Given the description of an element on the screen output the (x, y) to click on. 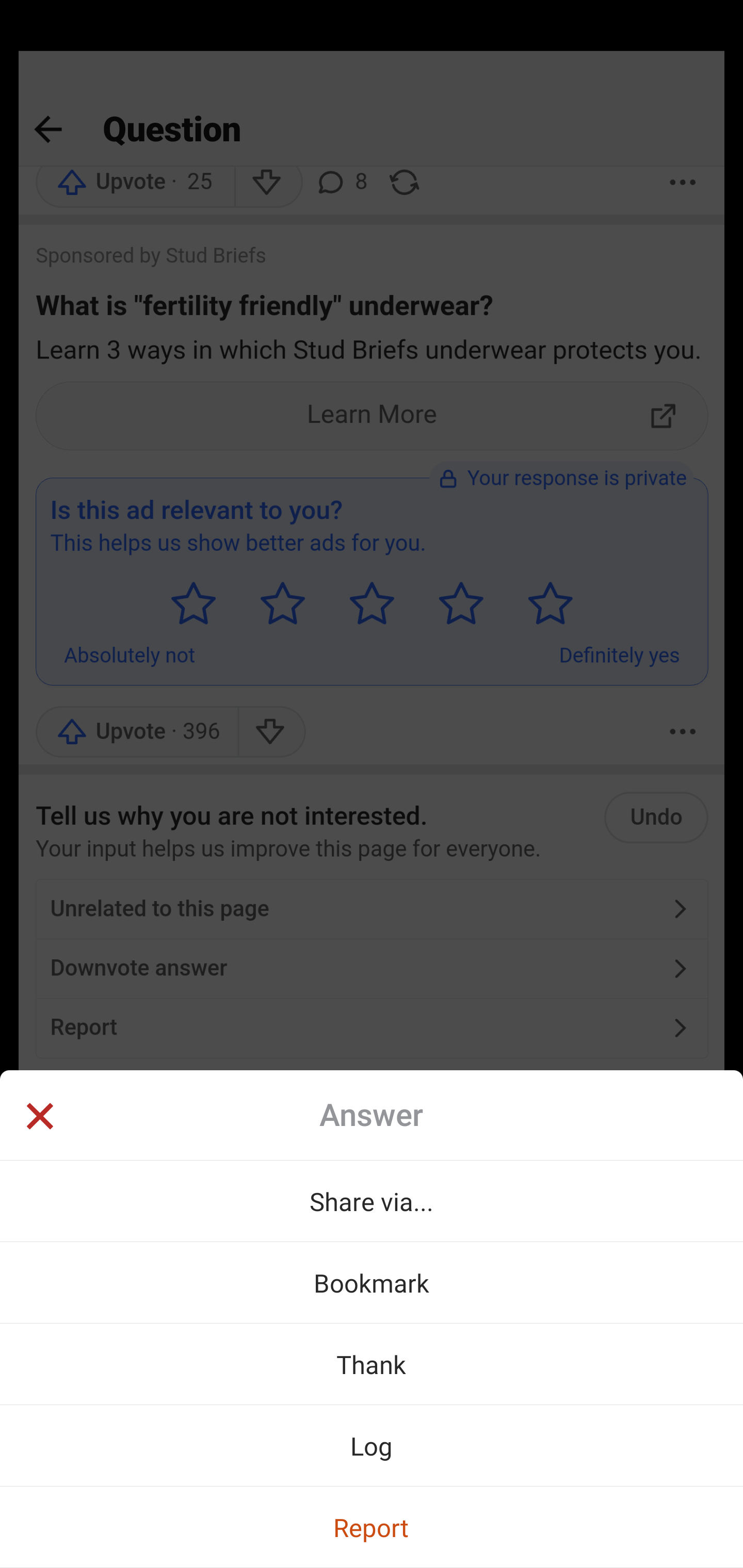
 Answer (371, 1115)
 (39, 1117)
Share via... (371, 1200)
Bookmark (371, 1282)
Thank (371, 1363)
Log (371, 1445)
Report (371, 1527)
